Given the description of an element on the screen output the (x, y) to click on. 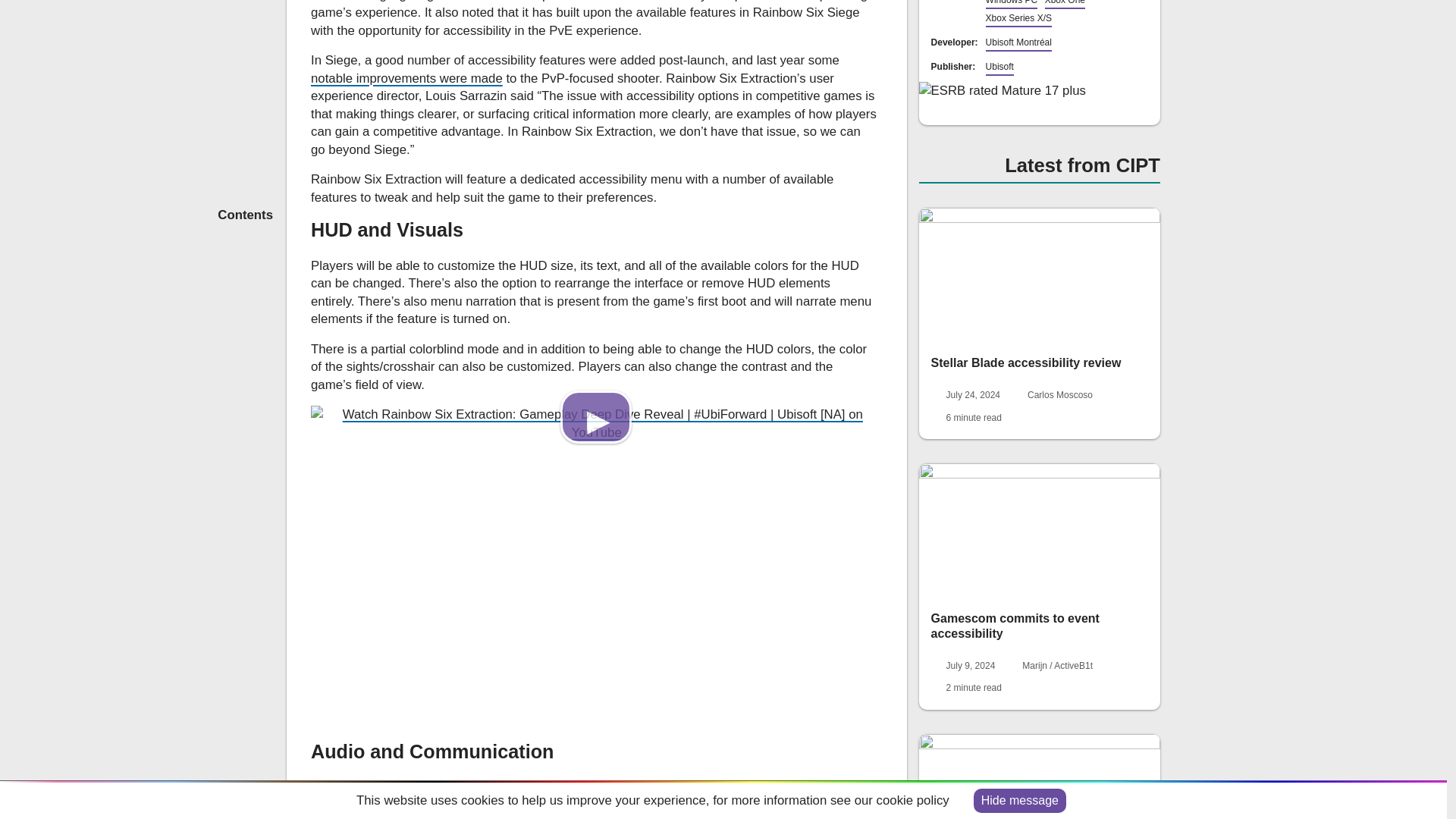
notable improvements were made (406, 78)
